Given the description of an element on the screen output the (x, y) to click on. 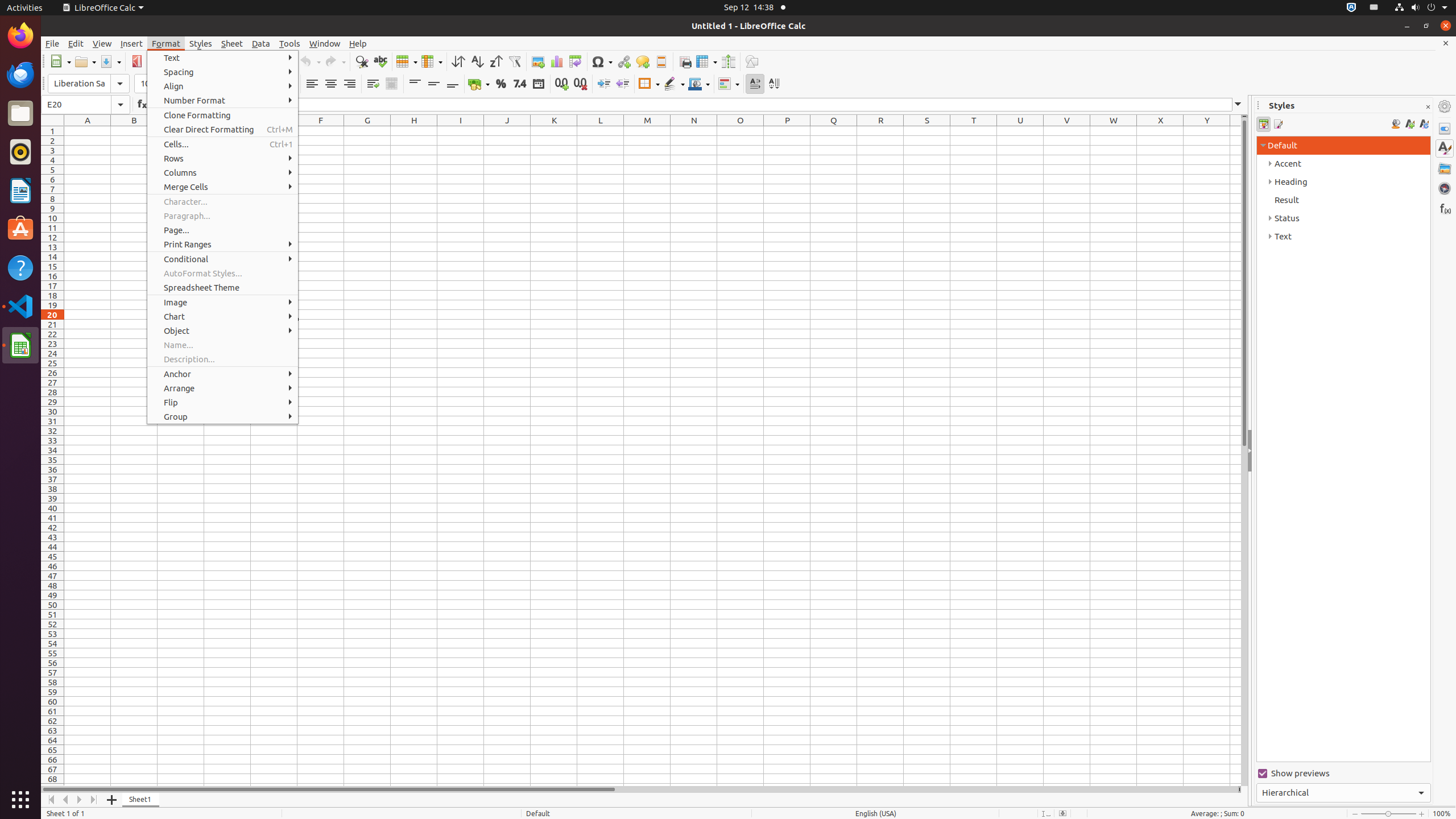
A1 Element type: table-cell (87, 130)
Insert Element type: menu (131, 43)
Vertical scroll bar Element type: scroll-bar (1244, 451)
Fill Format Mode Element type: push-button (1395, 123)
Comment Element type: push-button (642, 61)
